Given the description of an element on the screen output the (x, y) to click on. 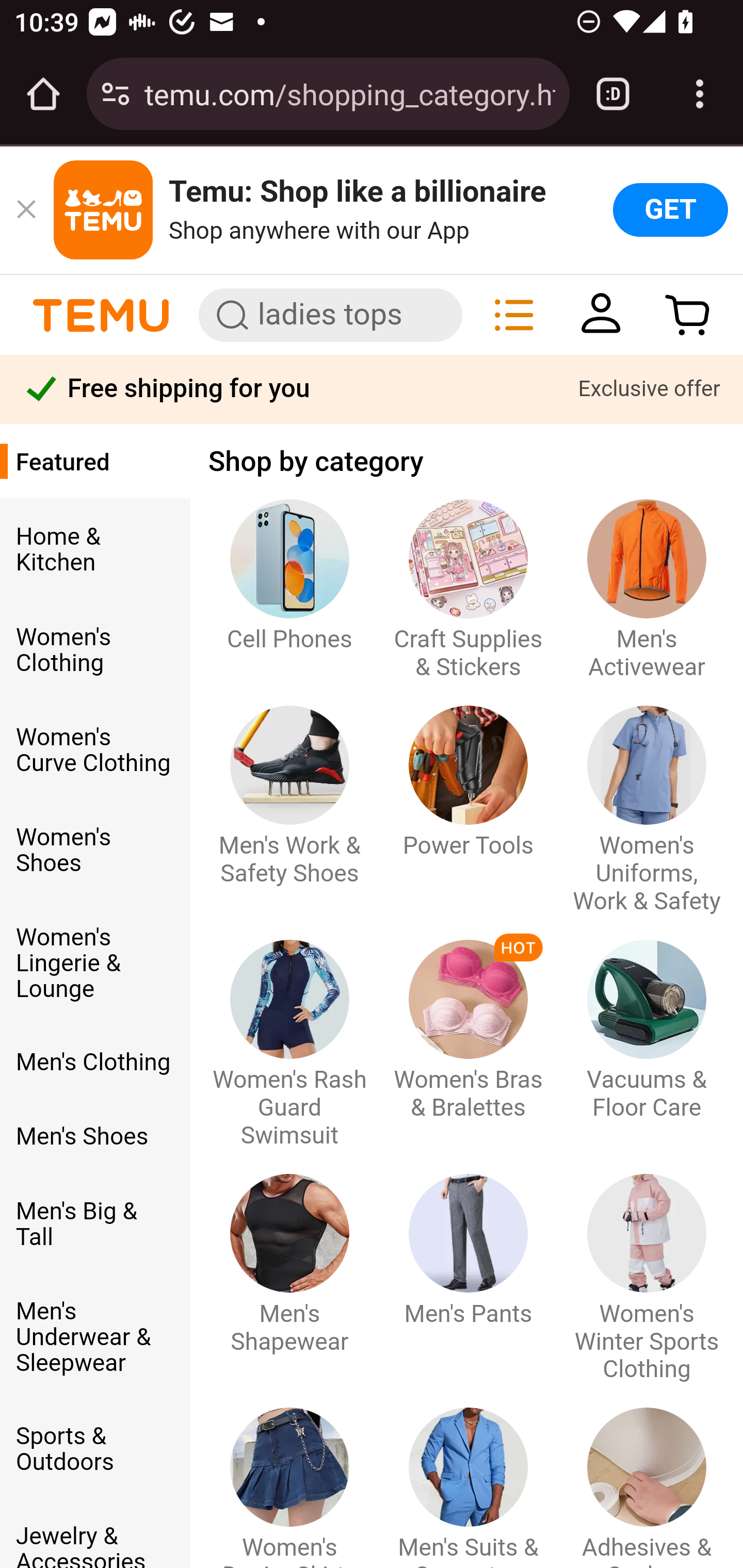
Open the home page (43, 93)
Connection is secure (115, 93)
Switch or close tabs (612, 93)
Customize and control Google Chrome (699, 93)
temu (101, 314)
Categories (513, 314)
You (601, 314)
Cart (687, 314)
Search Temu Search field (329, 314)
Featured (94, 464)
Cell Phones Cell Phones Cell Phones Cell Phones (289, 578)
Home & Kitchen (94, 550)
Women's Clothing (94, 651)
Power Tools Power Tools Power Tools Power Tools (467, 783)
Women's Curve Clothing (94, 751)
Women's Shoes (94, 852)
Women's Lingerie & Lounge (94, 964)
Men's Clothing (94, 1063)
Men's Shoes (94, 1138)
Men's Pants Men's Pants Men's Pants Men's Pants (467, 1253)
Men's Big & Tall (94, 1225)
Men's Underwear & Sleepwear (94, 1339)
Sports & Outdoors (94, 1450)
Jewelry & Accessories (94, 1546)
